Given the description of an element on the screen output the (x, y) to click on. 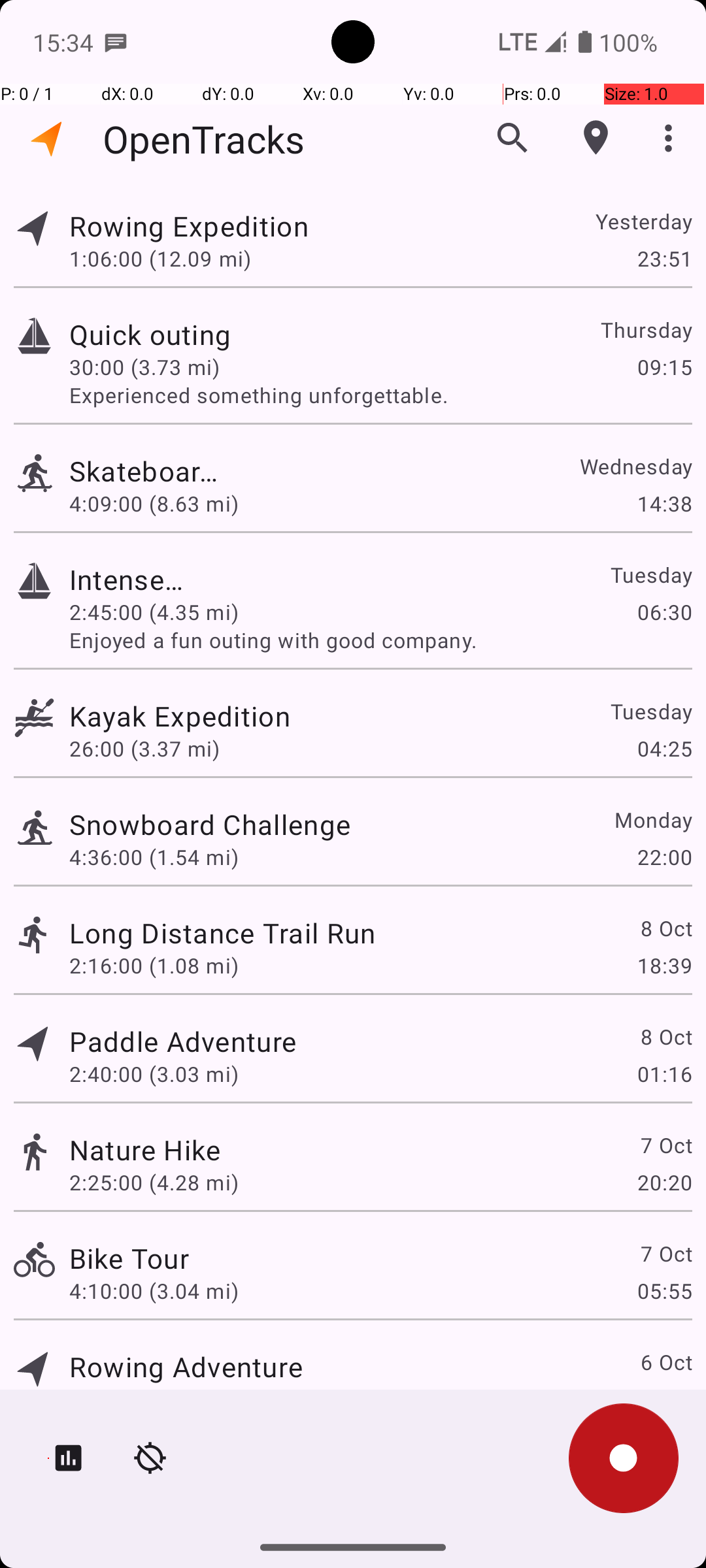
Rowing Expedition Element type: android.widget.TextView (221, 225)
1:06:00 (12.09 mi) Element type: android.widget.TextView (159, 258)
23:51 Element type: android.widget.TextView (664, 258)
Quick outing Element type: android.widget.TextView (182, 333)
30:00 (3.73 mi) Element type: android.widget.TextView (153, 366)
09:15 Element type: android.widget.TextView (664, 366)
Experienced something unforgettable. Element type: android.widget.TextView (380, 394)
Skateboard Adventure Element type: android.widget.TextView (144, 470)
4:09:00 (8.63 mi) Element type: android.widget.TextView (153, 503)
14:38 Element type: android.widget.TextView (664, 503)
Intense day Element type: android.widget.TextView (128, 578)
2:45:00 (4.35 mi) Element type: android.widget.TextView (153, 611)
06:30 Element type: android.widget.TextView (664, 611)
Enjoyed a fun outing with good company. Element type: android.widget.TextView (380, 639)
Kayak Expedition Element type: android.widget.TextView (185, 715)
26:00 (3.37 mi) Element type: android.widget.TextView (153, 748)
04:25 Element type: android.widget.TextView (664, 748)
Snowboard Challenge Element type: android.widget.TextView (209, 823)
4:36:00 (1.54 mi) Element type: android.widget.TextView (153, 856)
22:00 Element type: android.widget.TextView (664, 856)
Long Distance Trail Run Element type: android.widget.TextView (221, 932)
2:16:00 (1.08 mi) Element type: android.widget.TextView (153, 965)
18:39 Element type: android.widget.TextView (664, 965)
Paddle Adventure Element type: android.widget.TextView (182, 1040)
2:40:00 (3.03 mi) Element type: android.widget.TextView (153, 1073)
01:16 Element type: android.widget.TextView (664, 1073)
Nature Hike Element type: android.widget.TextView (144, 1149)
2:25:00 (4.28 mi) Element type: android.widget.TextView (153, 1182)
20:20 Element type: android.widget.TextView (664, 1182)
Bike Tour Element type: android.widget.TextView (128, 1257)
4:10:00 (3.04 mi) Element type: android.widget.TextView (153, 1290)
05:55 Element type: android.widget.TextView (664, 1290)
Rowing Adventure Element type: android.widget.TextView (185, 1366)
6 Oct Element type: android.widget.TextView (665, 1361)
1:33:00 (6.33 mi) Element type: android.widget.TextView (153, 1399)
04:41 Element type: android.widget.TextView (664, 1399)
